Given the description of an element on the screen output the (x, y) to click on. 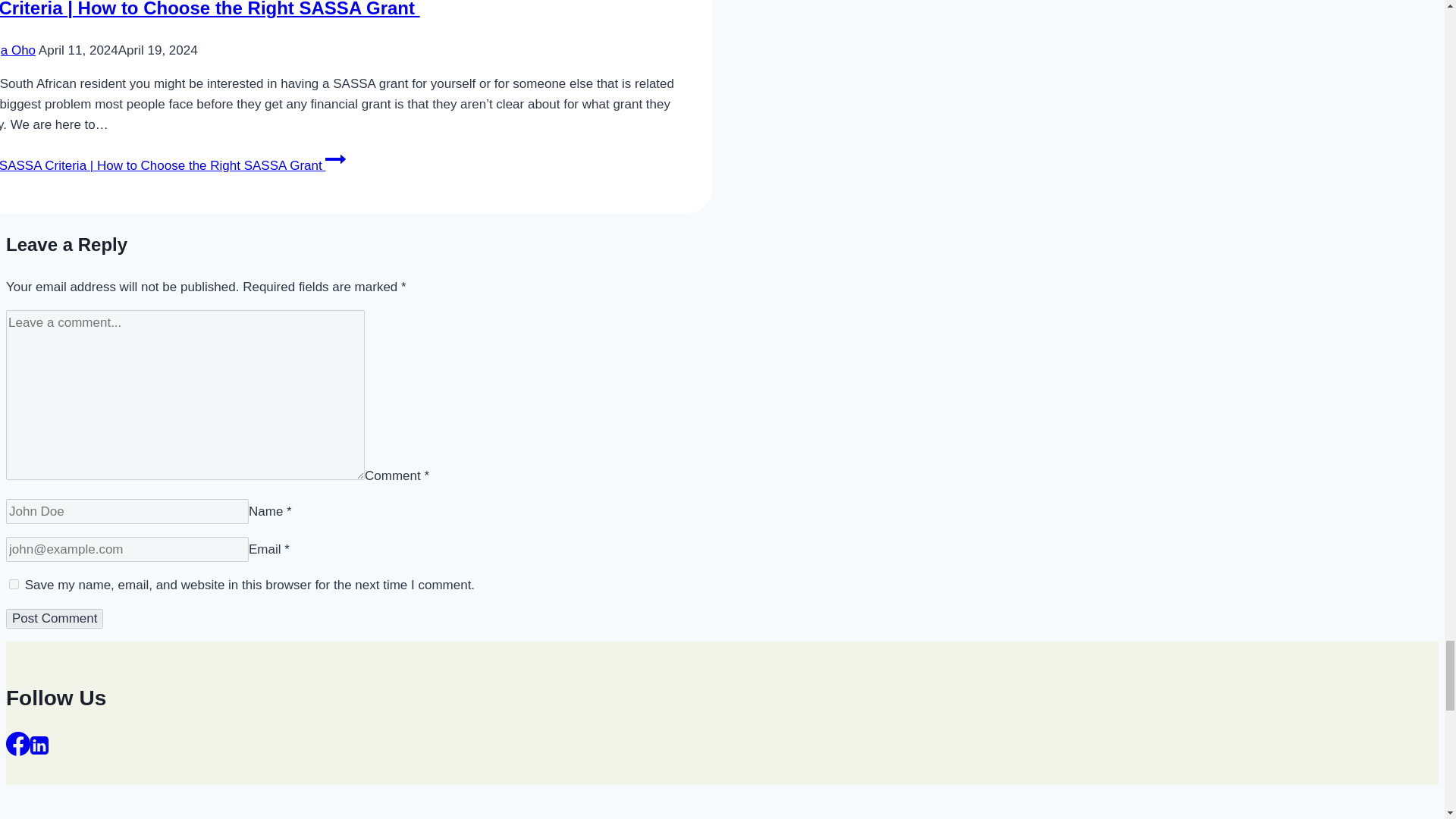
yes (13, 583)
Post Comment (54, 618)
Facebook (17, 743)
